Given the description of an element on the screen output the (x, y) to click on. 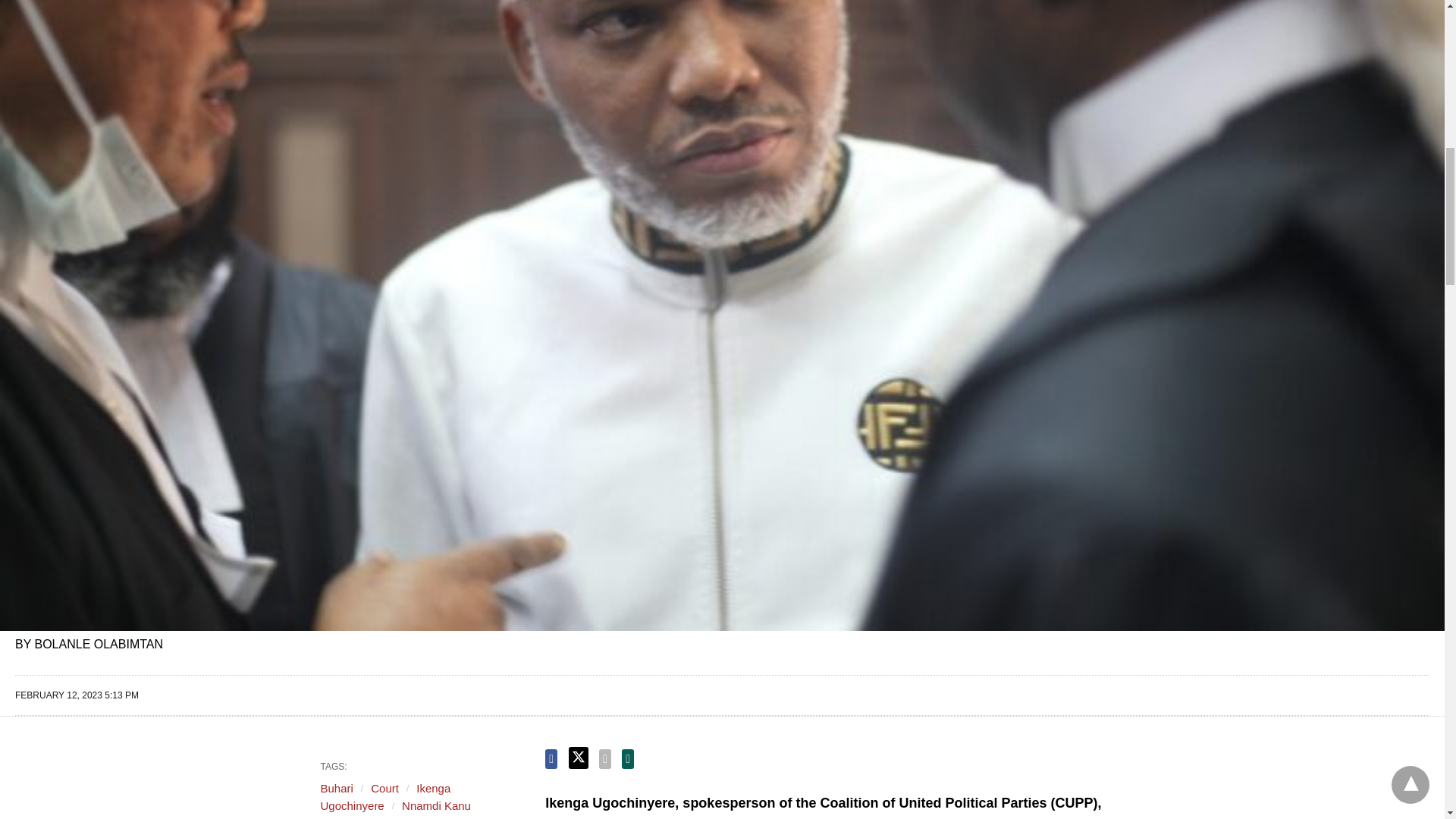
Buhari (336, 788)
Nnamdi Kanu (435, 805)
Court (384, 788)
Buhari (336, 788)
Court (384, 788)
Ikenga Ugochinyere (384, 797)
Nnamdi Kanu (435, 805)
Ikenga Ugochinyere (384, 797)
